Given the description of an element on the screen output the (x, y) to click on. 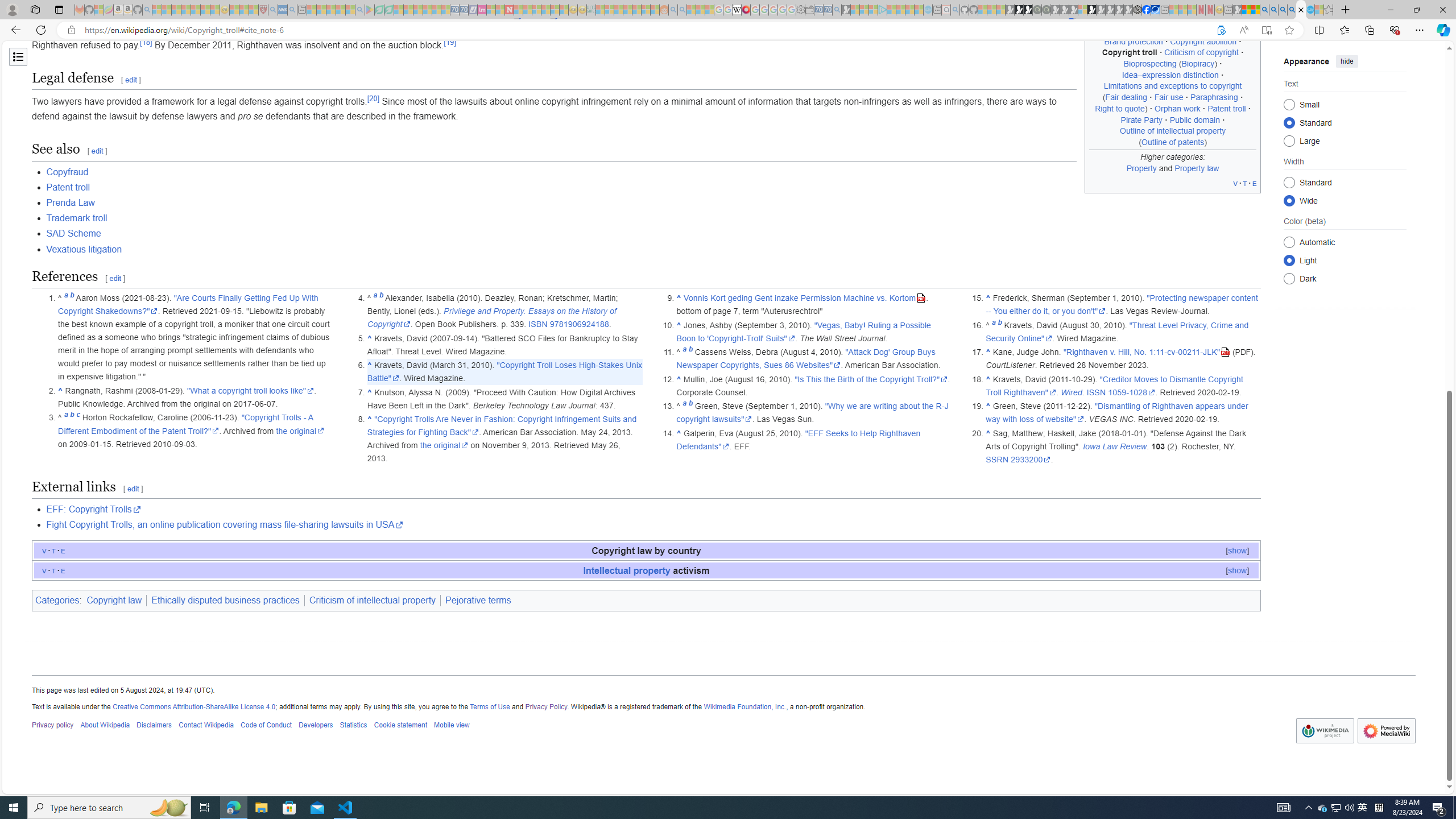
Privacy Policy (546, 706)
Developers (315, 725)
Criticism of intellectual property (372, 600)
Wired (1071, 392)
hide (1347, 60)
"Threat Level Privacy, Crime and Security Online" (1117, 331)
Fair use (1168, 97)
Outline of intellectual property (Outline of patents) (1172, 136)
